Given the description of an element on the screen output the (x, y) to click on. 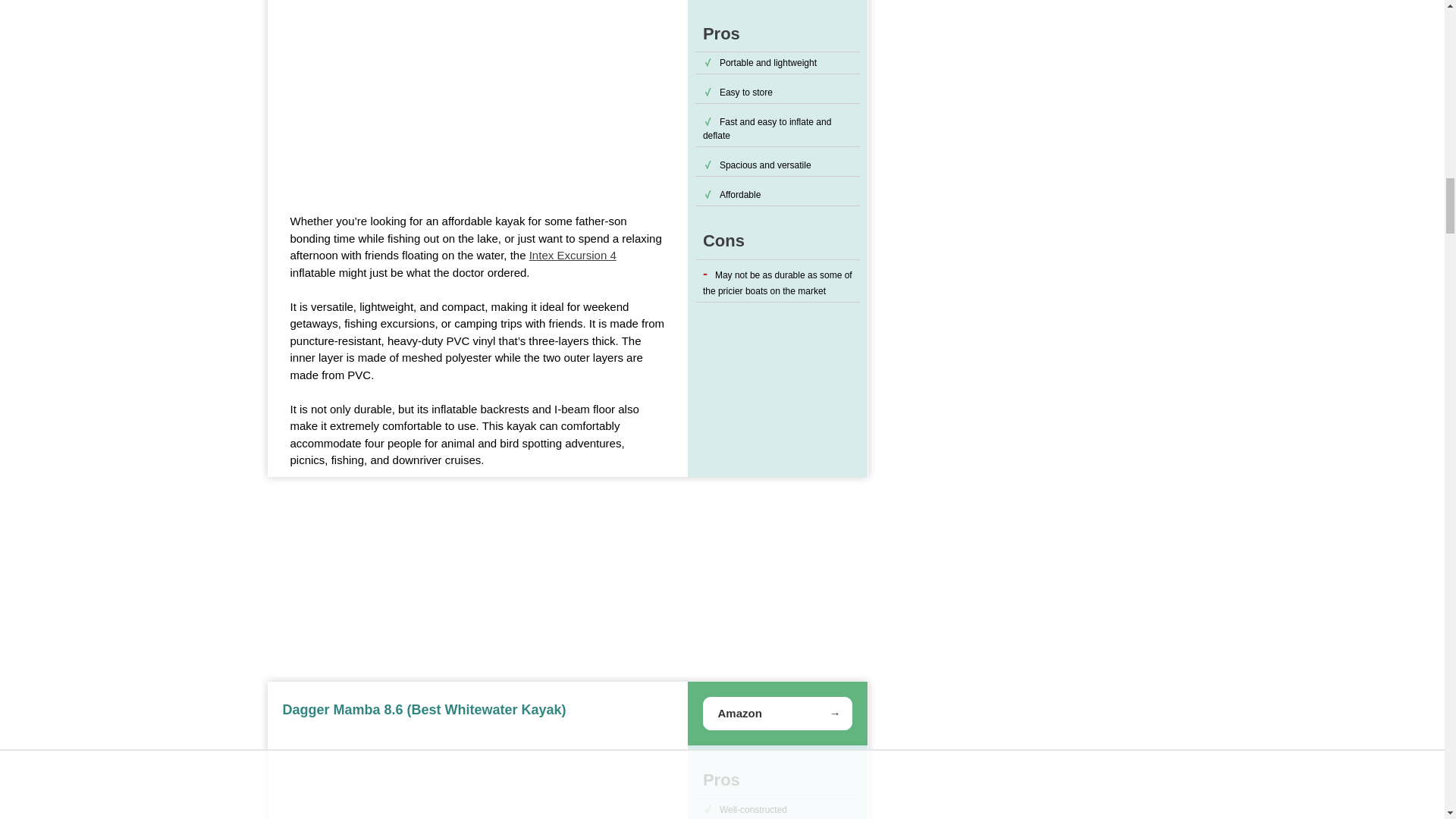
Intex Excursion 4 (572, 254)
